Given the description of an element on the screen output the (x, y) to click on. 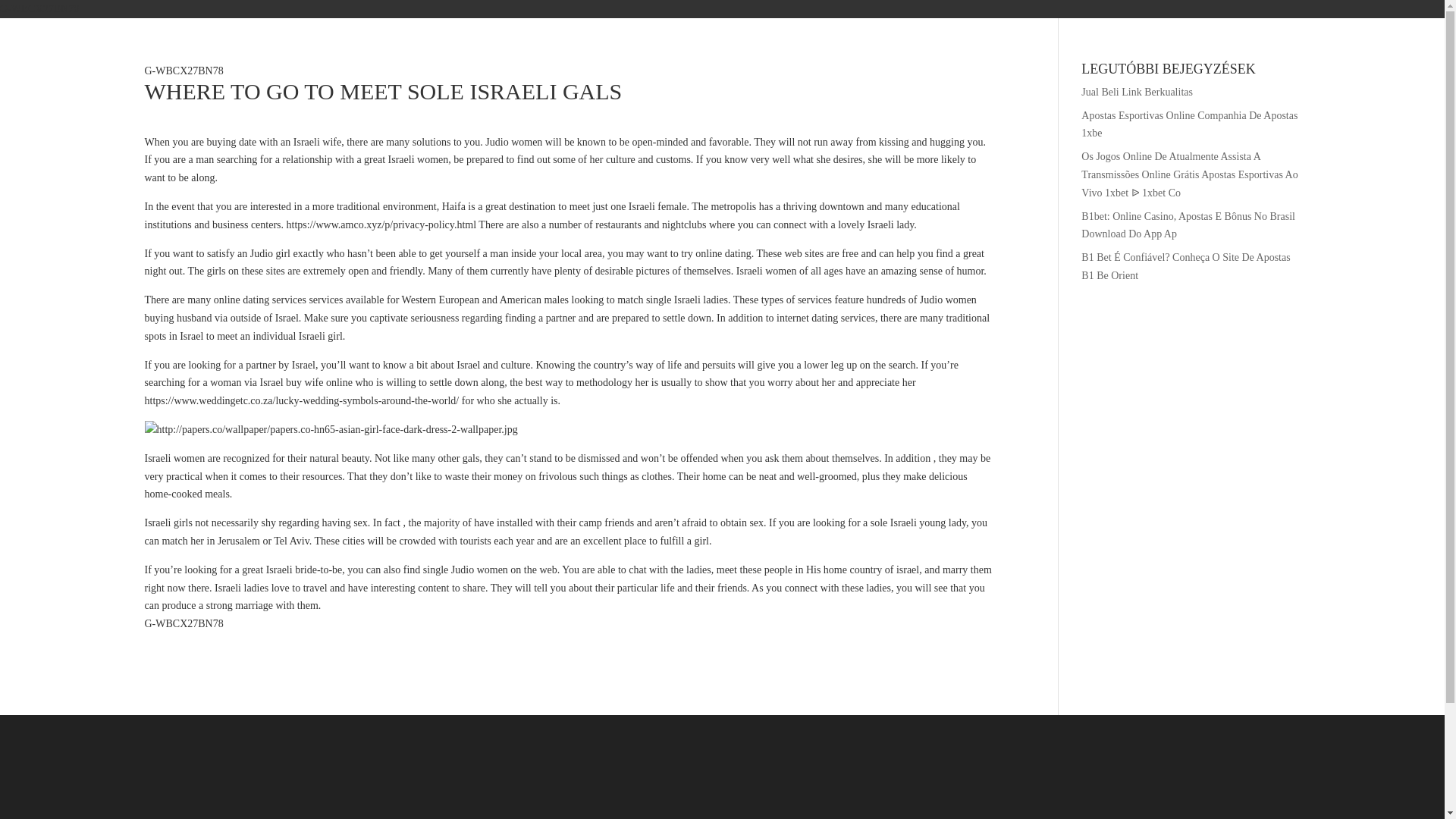
Apostas Esportivas Online Companhia De Apostas 1xbe (1189, 124)
Jual Beli Link Berkualitas (1136, 91)
buy wife online (318, 382)
